Given the description of an element on the screen output the (x, y) to click on. 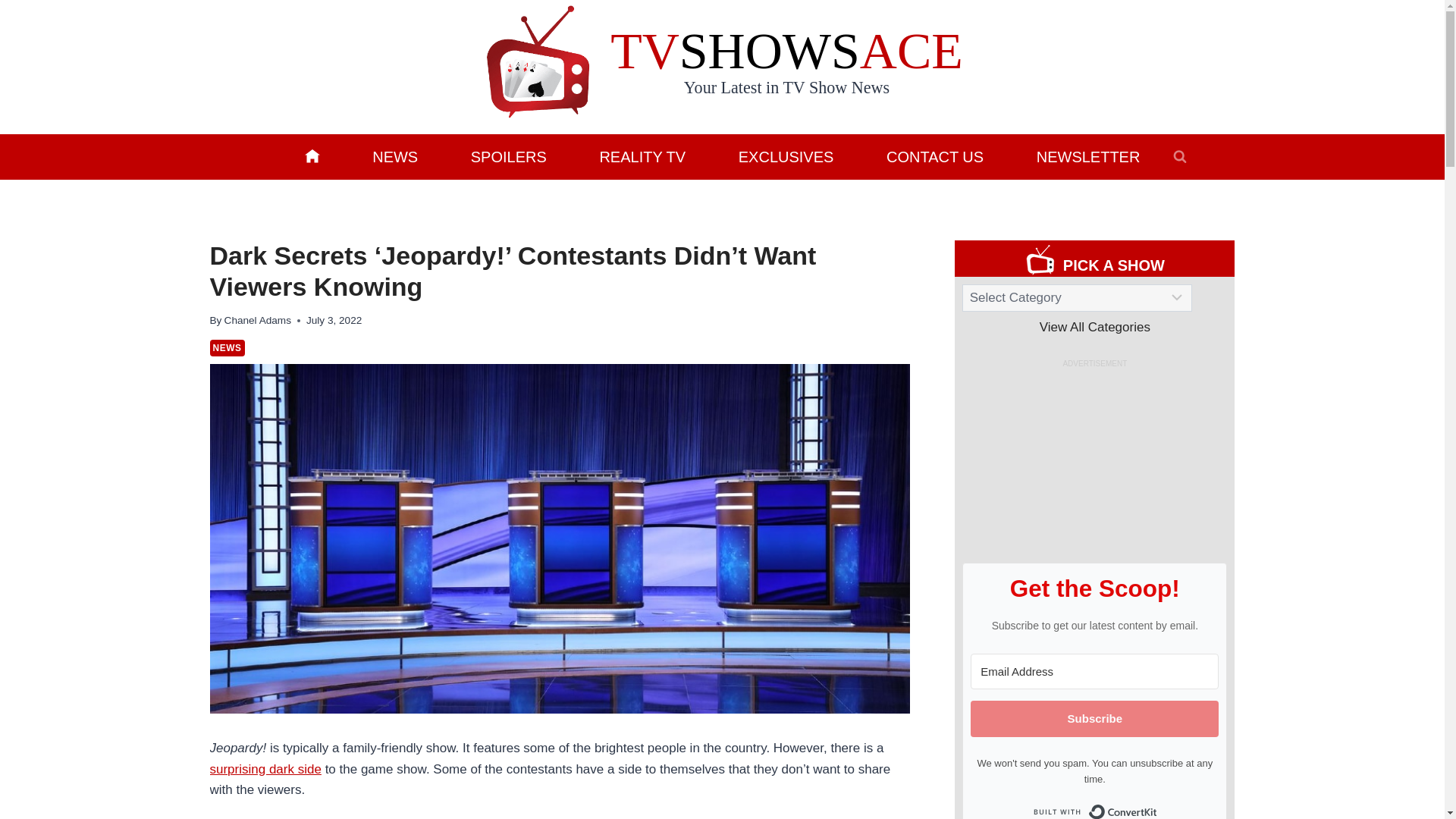
NEWSLETTER (1088, 156)
Chanel Adams (257, 319)
NEWS (226, 347)
surprising dark side (264, 769)
SPOILERS (508, 156)
CONTACT US (935, 156)
NEWS (395, 156)
EXCLUSIVES (785, 156)
REALITY TV (642, 156)
